Given the description of an element on the screen output the (x, y) to click on. 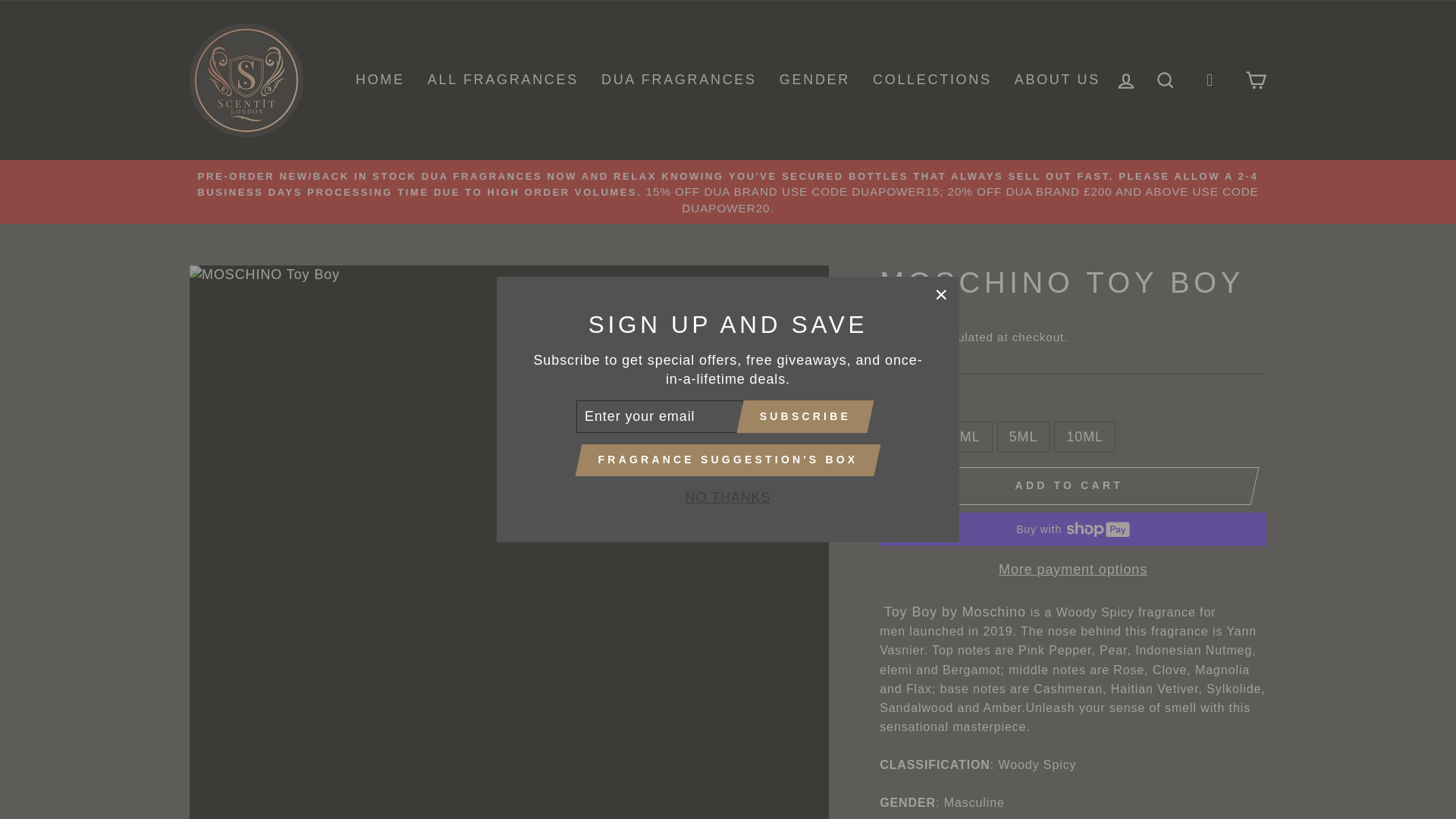
HOME (379, 80)
DUA FRAGRANCES (678, 80)
ALL FRAGRANCES (502, 80)
ABOUT US (1057, 80)
GENDER (814, 80)
COLLECTIONS (932, 80)
